Given the description of an element on the screen output the (x, y) to click on. 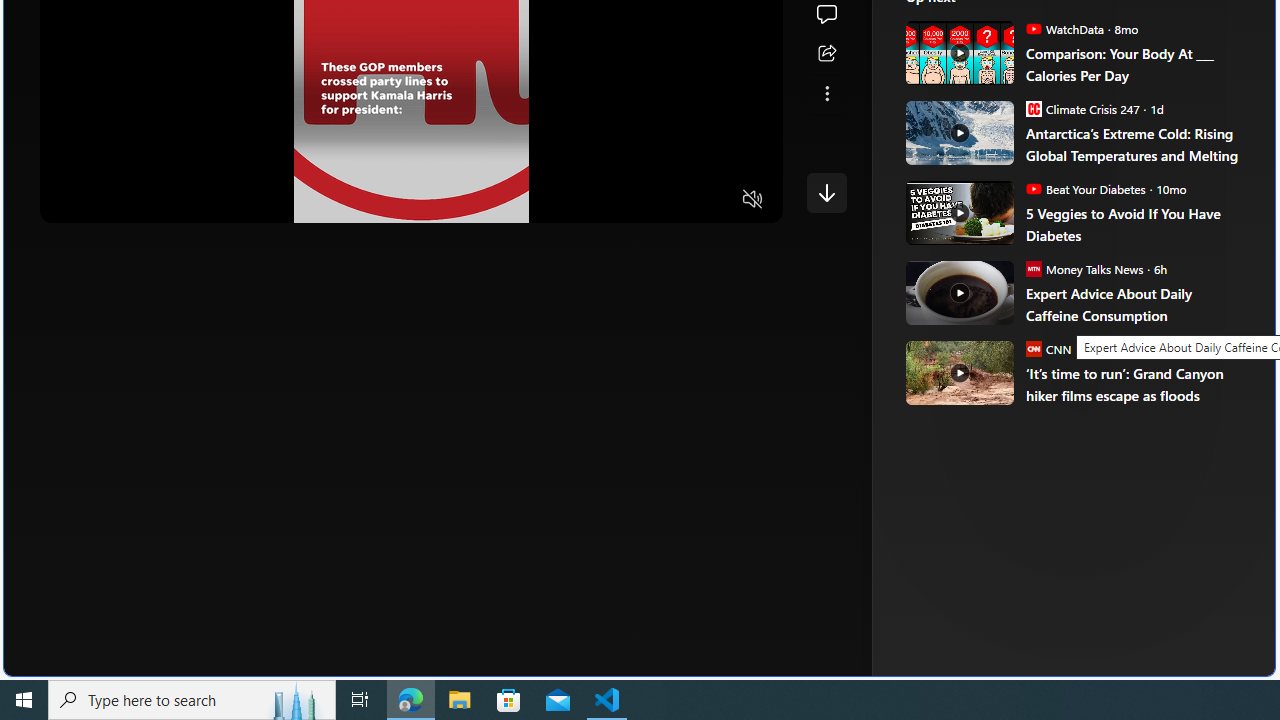
Seek Back (109, 200)
5 Veggies to Avoid If You Have Diabetes (1136, 224)
ABC News (974, 12)
Comparison: Your Body At ___ Calories Per Day (1136, 64)
5 Veggies to Avoid If You Have Diabetes (958, 212)
Seek Forward (150, 200)
Share this story (826, 53)
Captions (675, 200)
Fullscreen (714, 200)
Pause (69, 200)
Quality Settings (634, 200)
Progress Bar (411, 174)
